Given the description of an element on the screen output the (x, y) to click on. 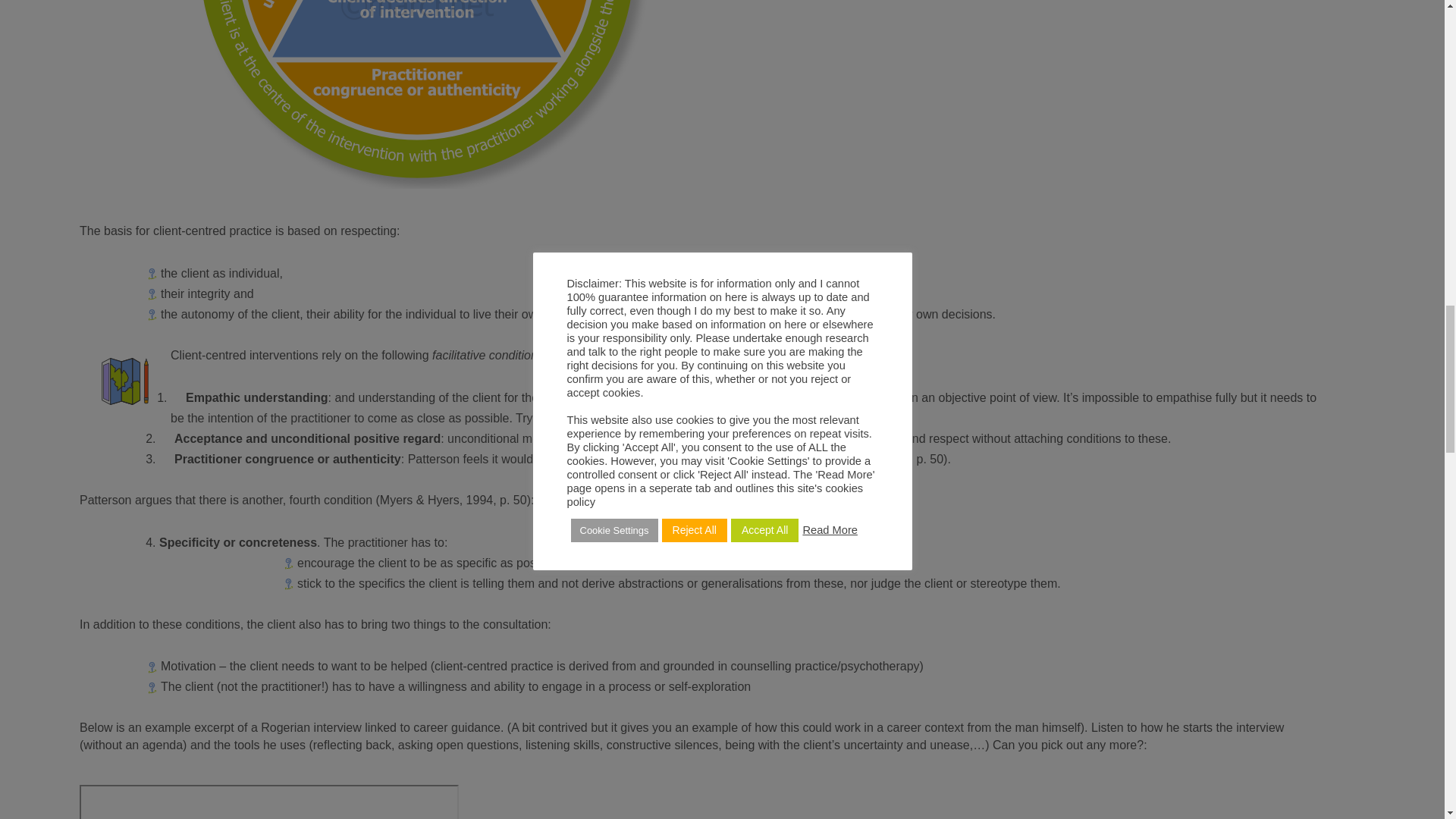
Carl Rogers interviews: Richie (269, 801)
